Given the description of an element on the screen output the (x, y) to click on. 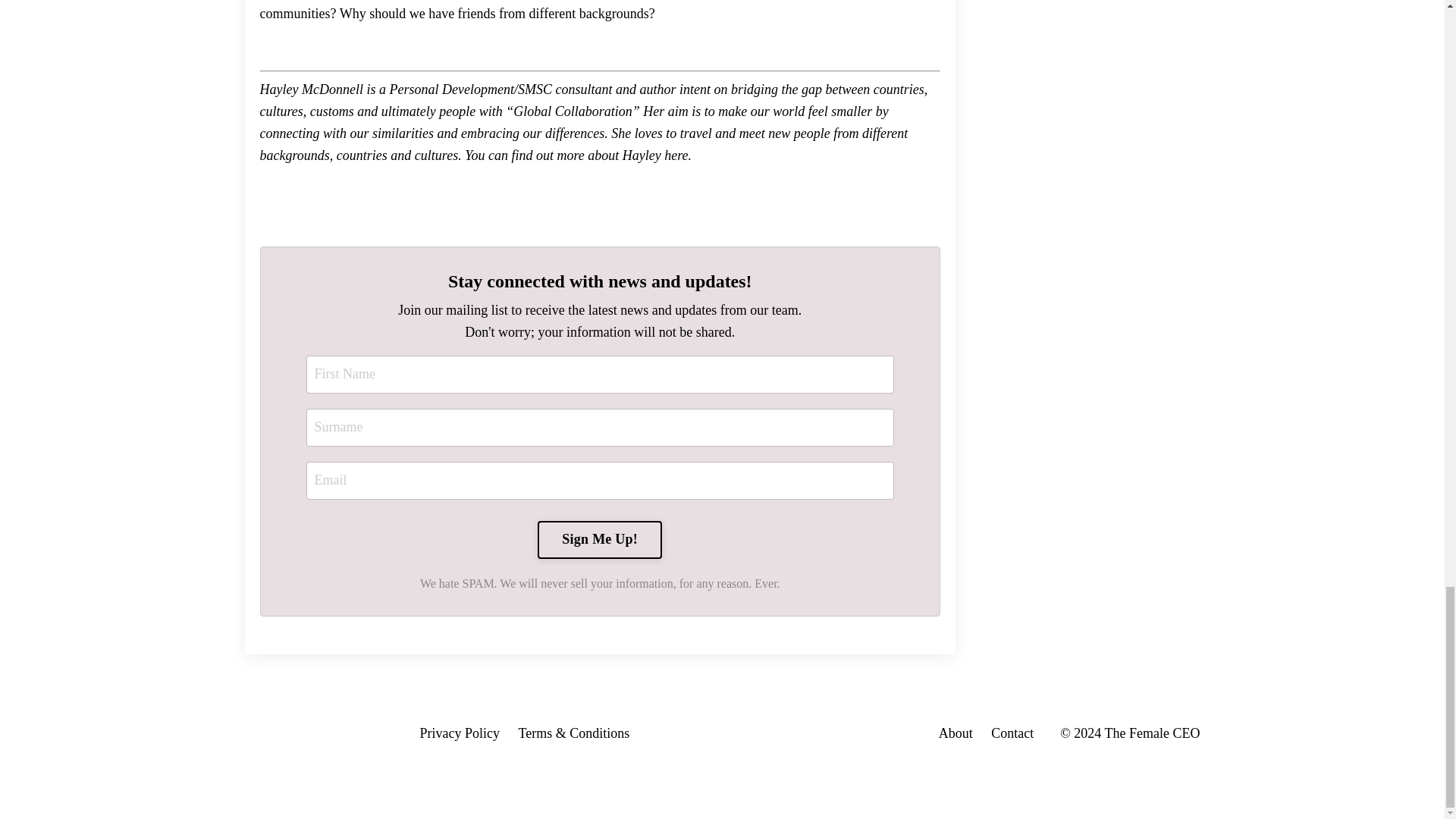
Contact (1012, 733)
 here. (676, 155)
About (955, 733)
Sign Me Up!  (599, 539)
Sign Me Up!  (599, 539)
Privacy Policy (461, 733)
Powered by Kajabi (1158, 778)
